Given the description of an element on the screen output the (x, y) to click on. 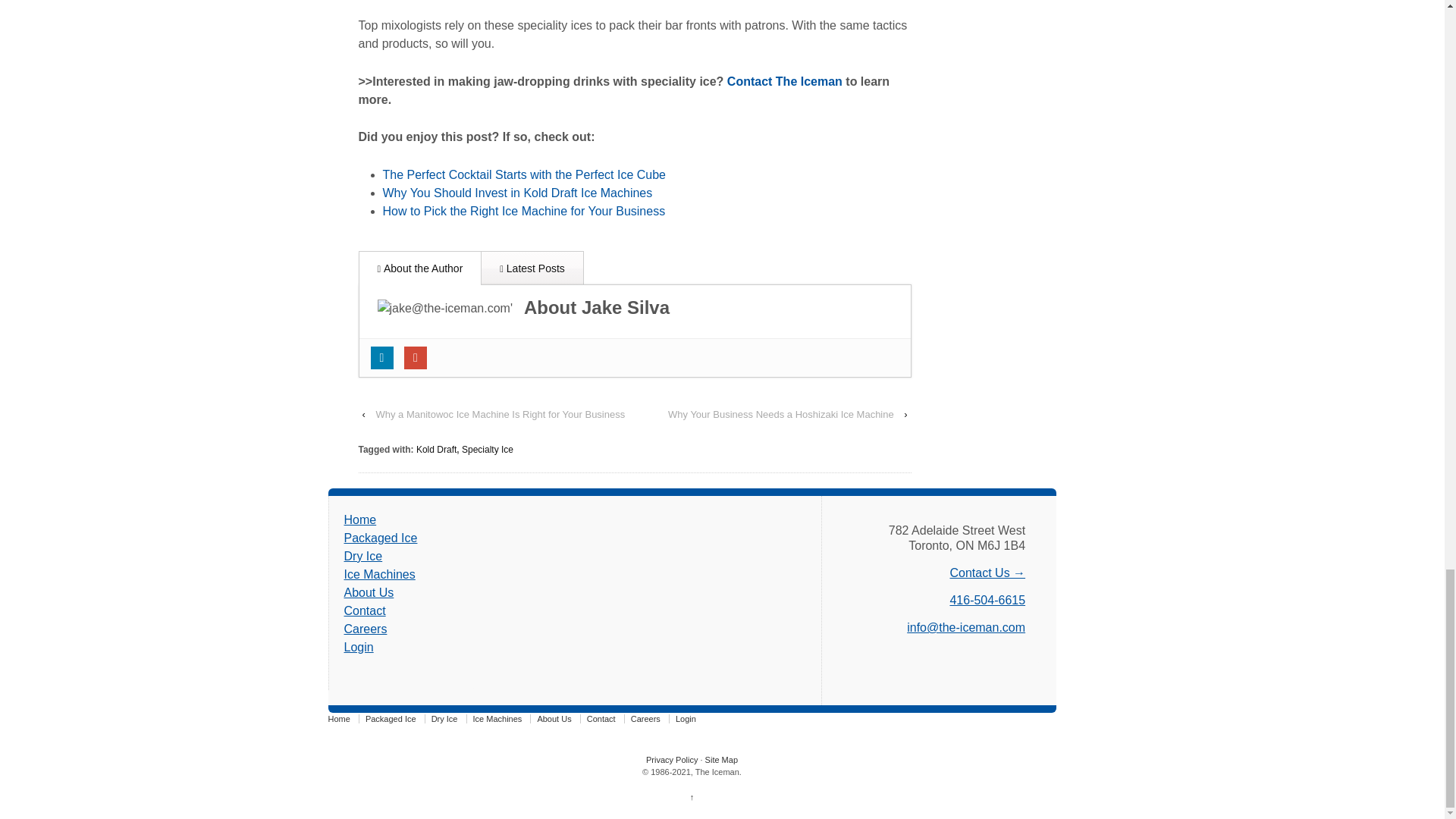
Contact The Iceman (784, 81)
The Perfect Cocktail Starts with the Perfect Ice Cube (523, 174)
